Given the description of an element on the screen output the (x, y) to click on. 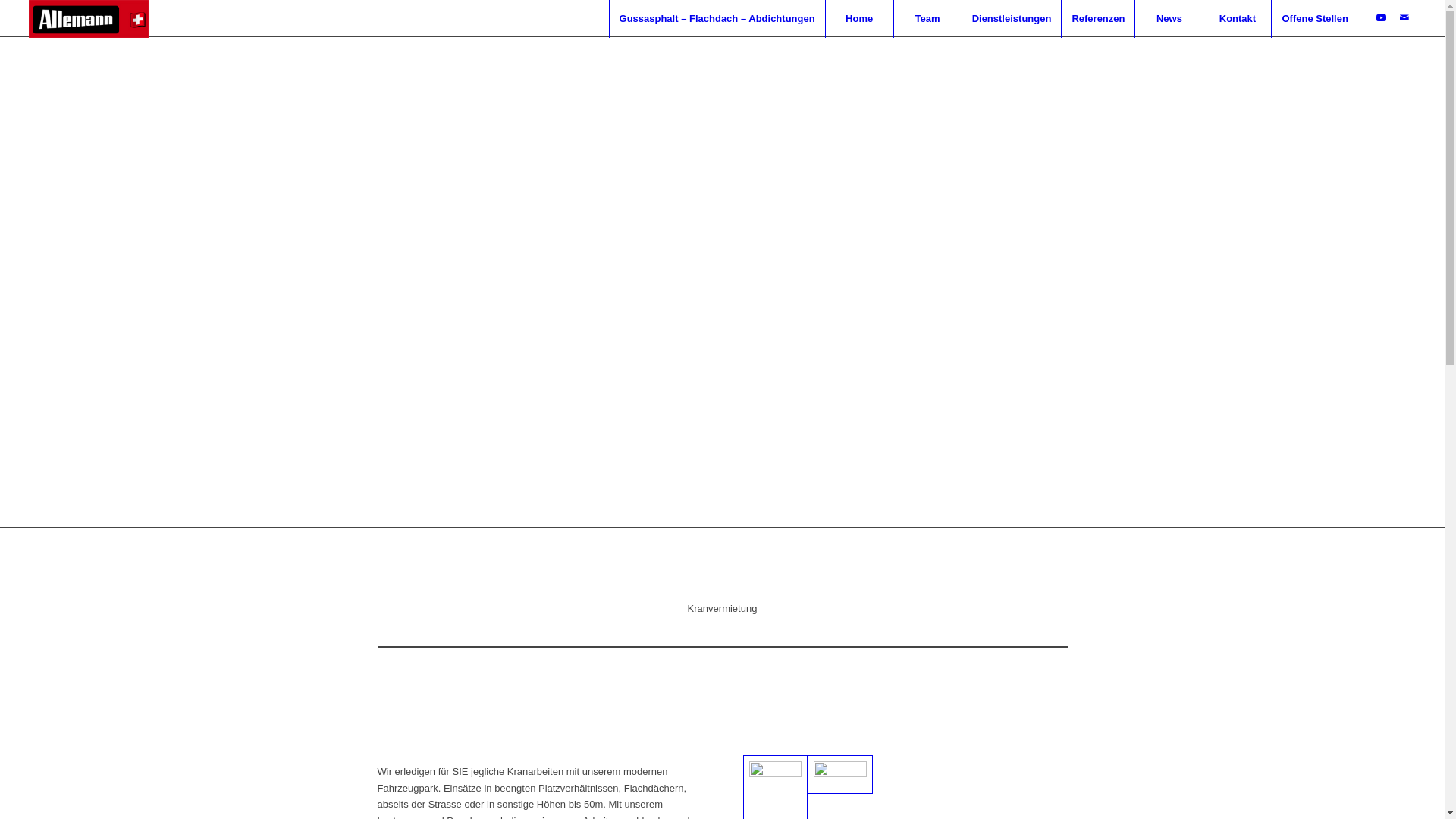
Kranvermietung Element type: hover (839, 774)
Offene Stellen Element type: text (1313, 18)
Dienstleistungen Element type: text (1011, 18)
News Element type: text (1168, 18)
Team Element type: text (927, 18)
Referenzen Element type: text (1097, 18)
Home Element type: text (859, 18)
Mail Element type: hover (1404, 17)
Youtube Element type: hover (1381, 17)
Kontakt Element type: text (1236, 18)
Allemann-AG-Logo Element type: hover (88, 18)
